Given the description of an element on the screen output the (x, y) to click on. 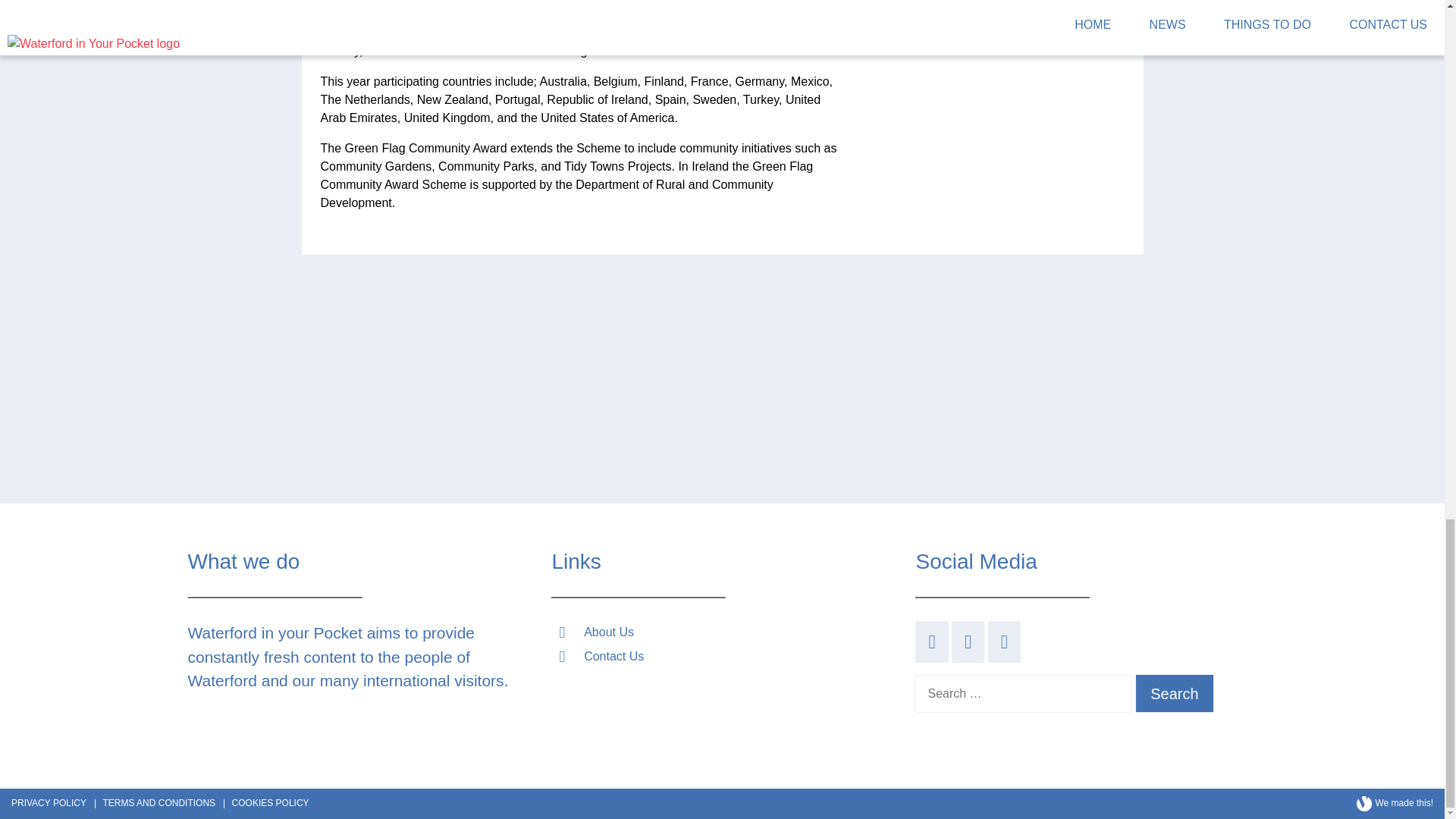
Search (1174, 693)
About Us (608, 631)
Contact Us (613, 656)
Search (1174, 693)
